Given the description of an element on the screen output the (x, y) to click on. 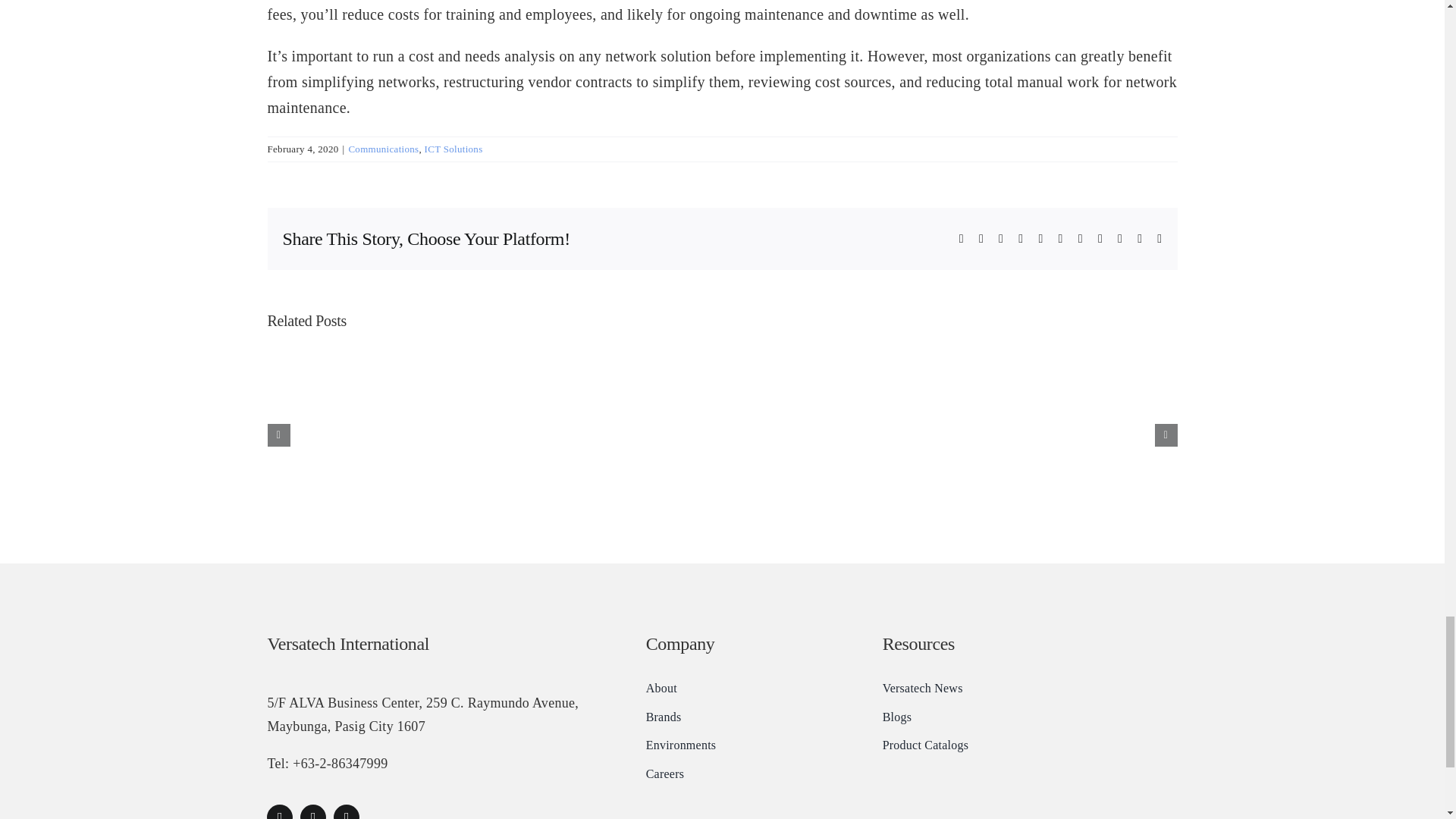
LinkedIn (346, 811)
Facebook (279, 811)
Instagram (312, 811)
